Given the description of an element on the screen output the (x, y) to click on. 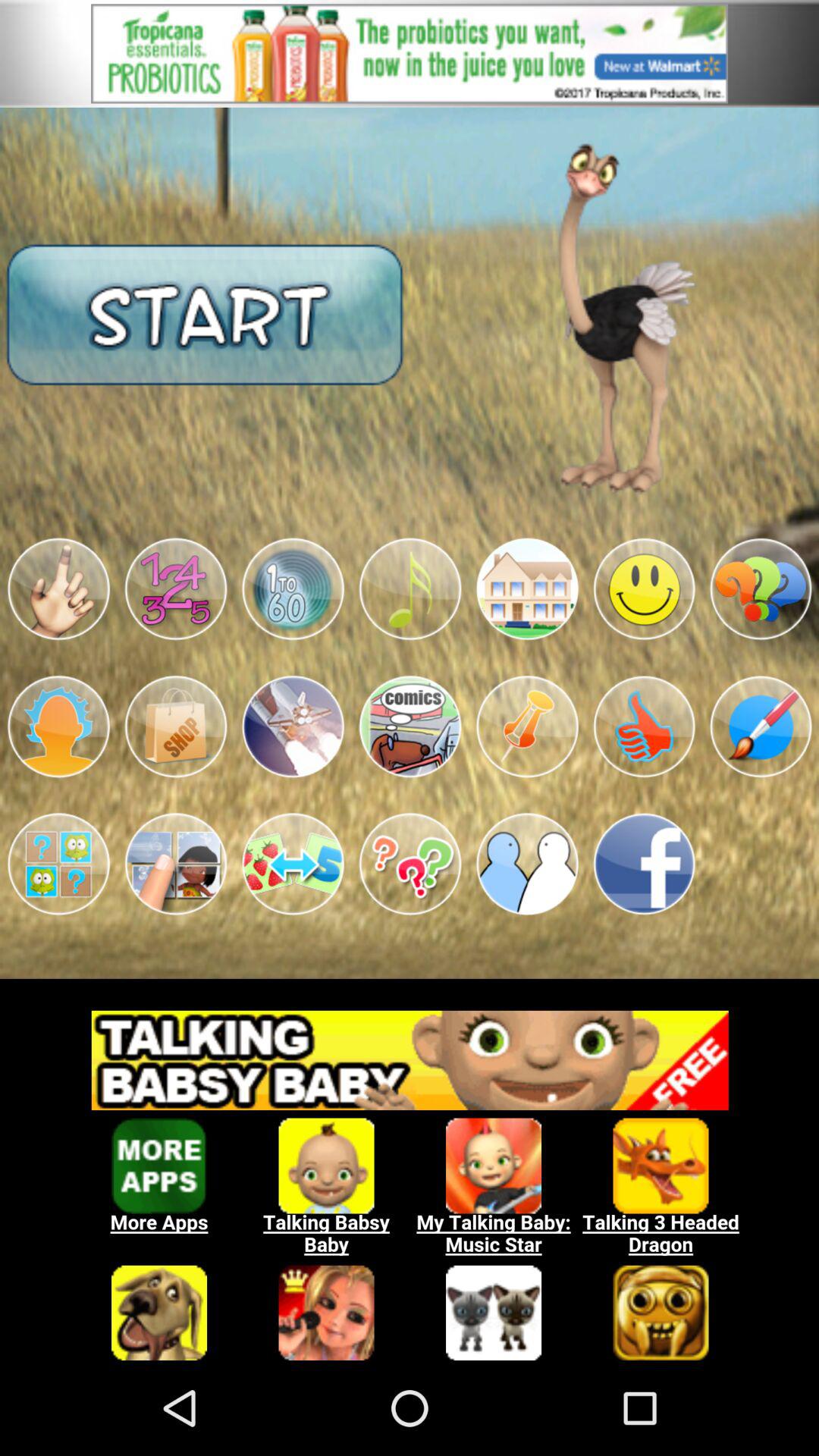
advertisement (409, 53)
